Given the description of an element on the screen output the (x, y) to click on. 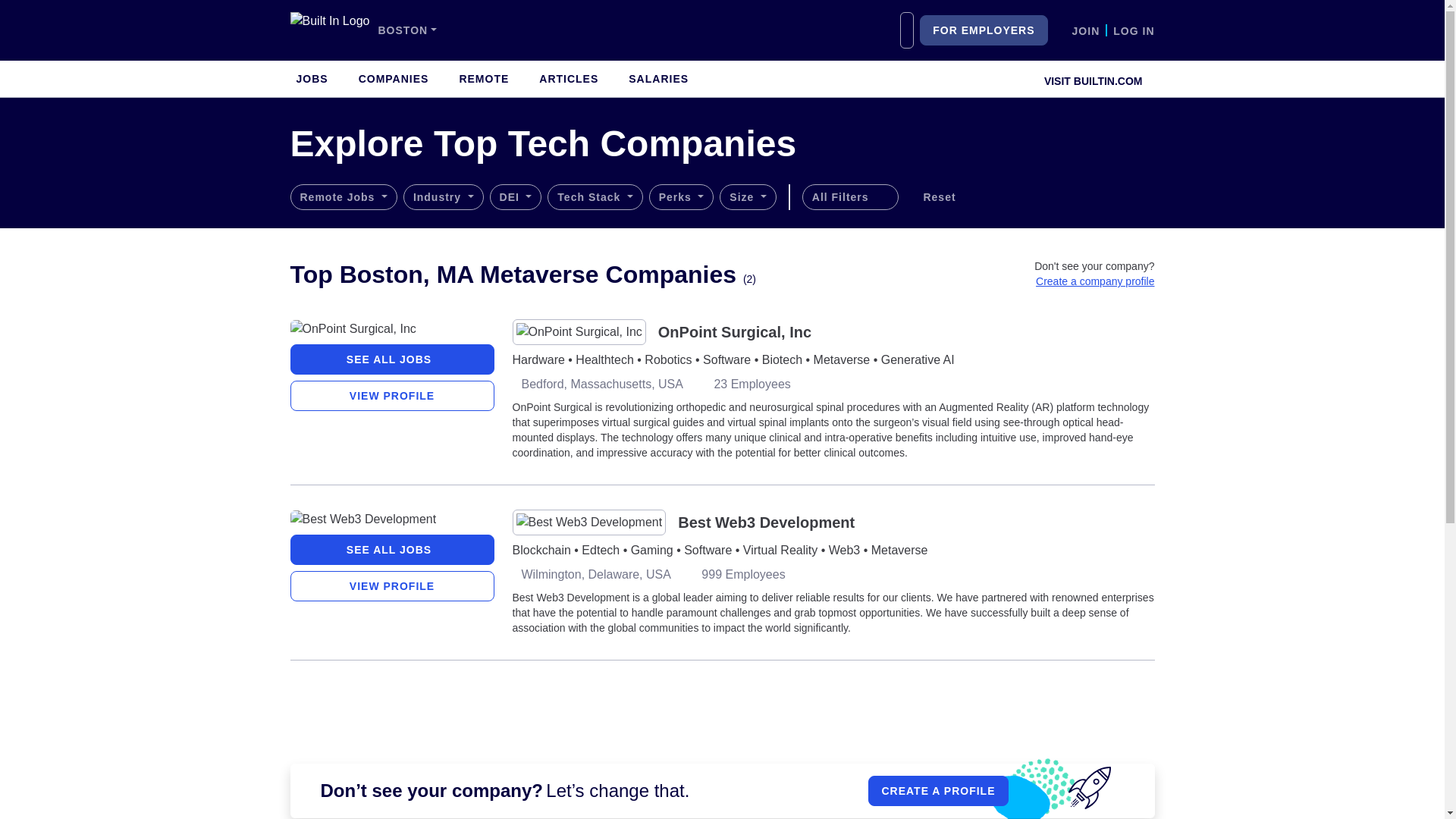
FOR EMPLOYERS (983, 30)
BOSTON (406, 30)
JOIN (1085, 30)
